Given the description of an element on the screen output the (x, y) to click on. 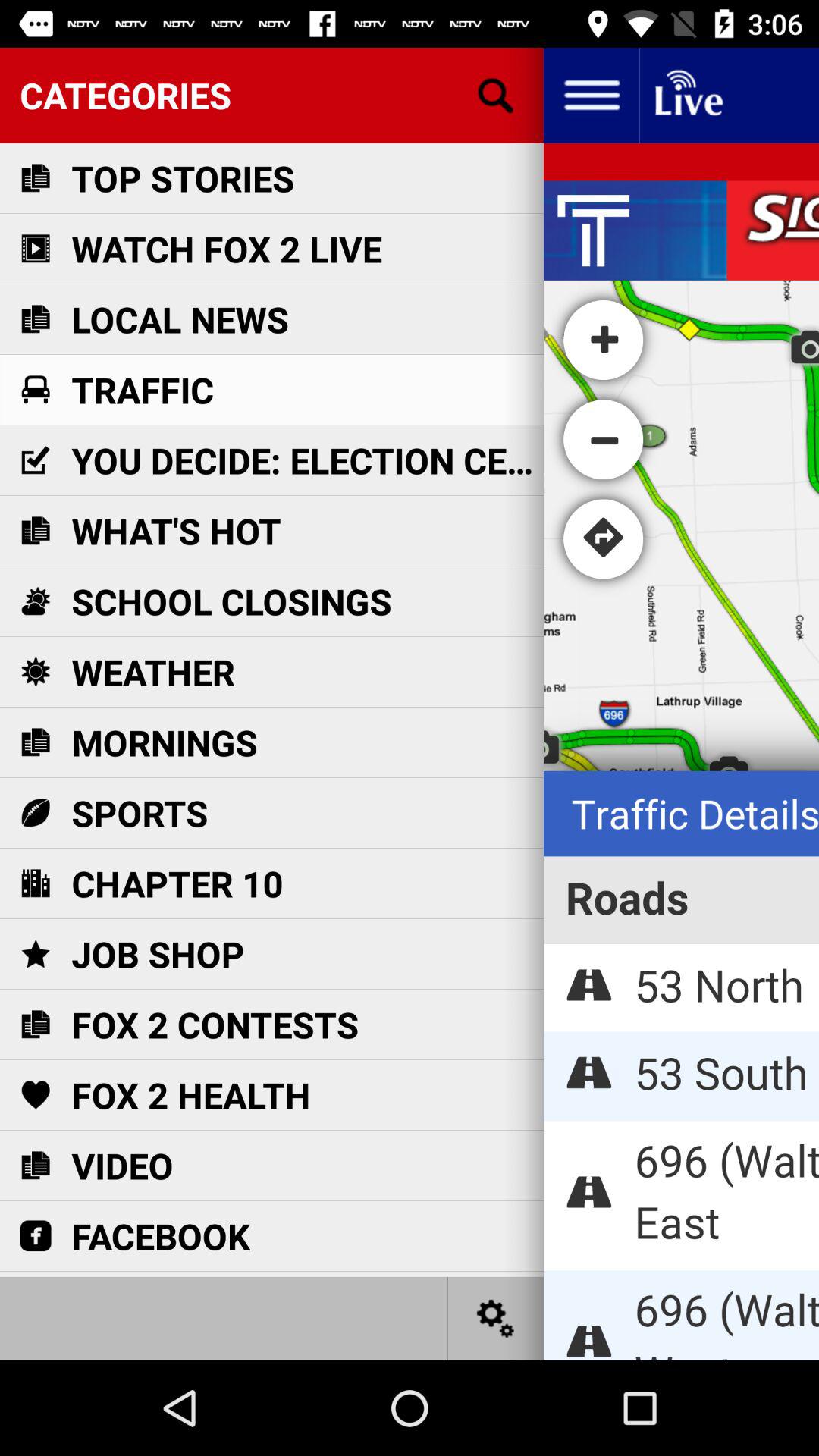
programming (687, 95)
